Given the description of an element on the screen output the (x, y) to click on. 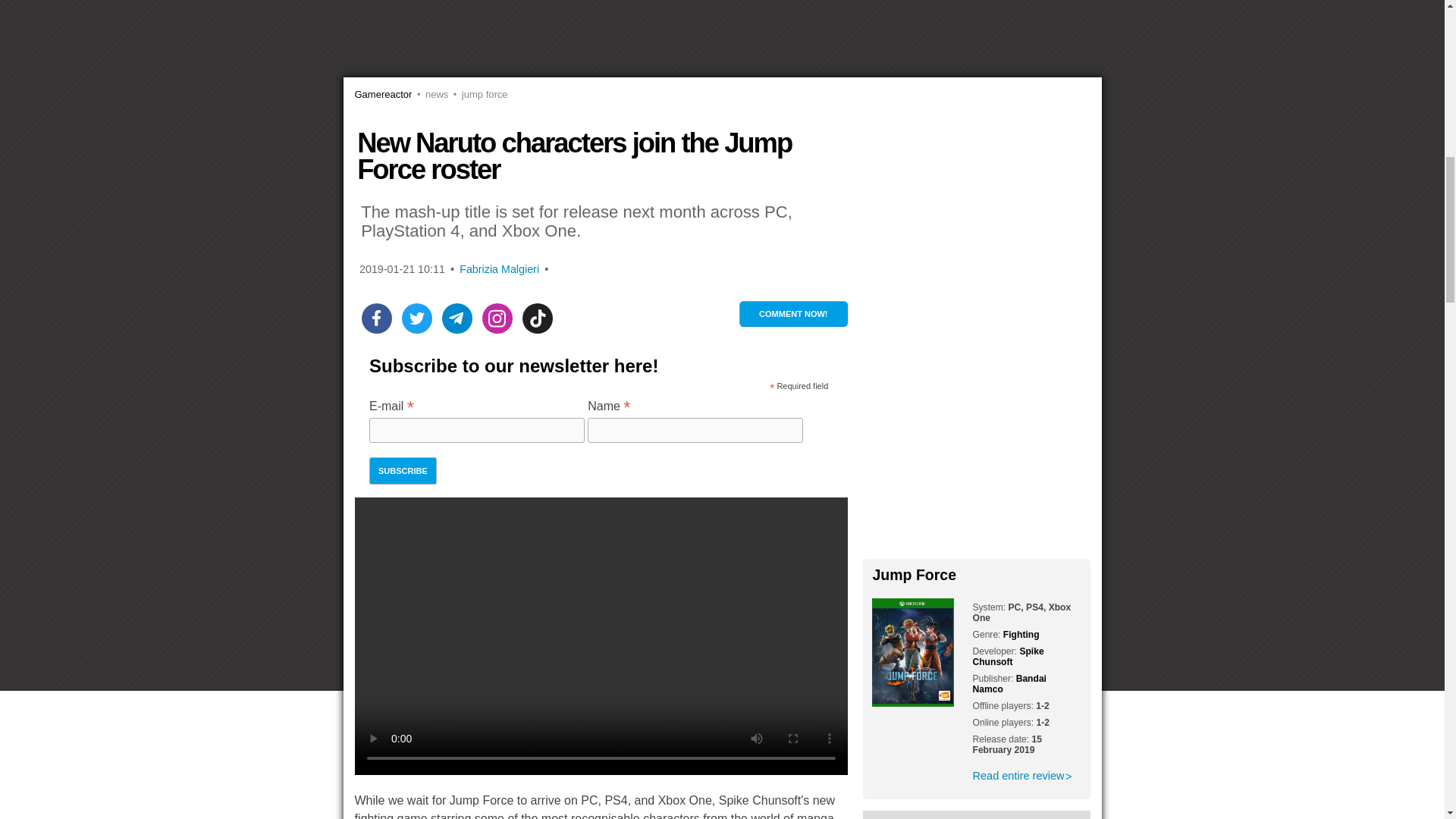
Jump Force (477, 93)
Gamereactor (383, 93)
Gamereactor news (430, 93)
Subscribe (402, 470)
